Given the description of an element on the screen output the (x, y) to click on. 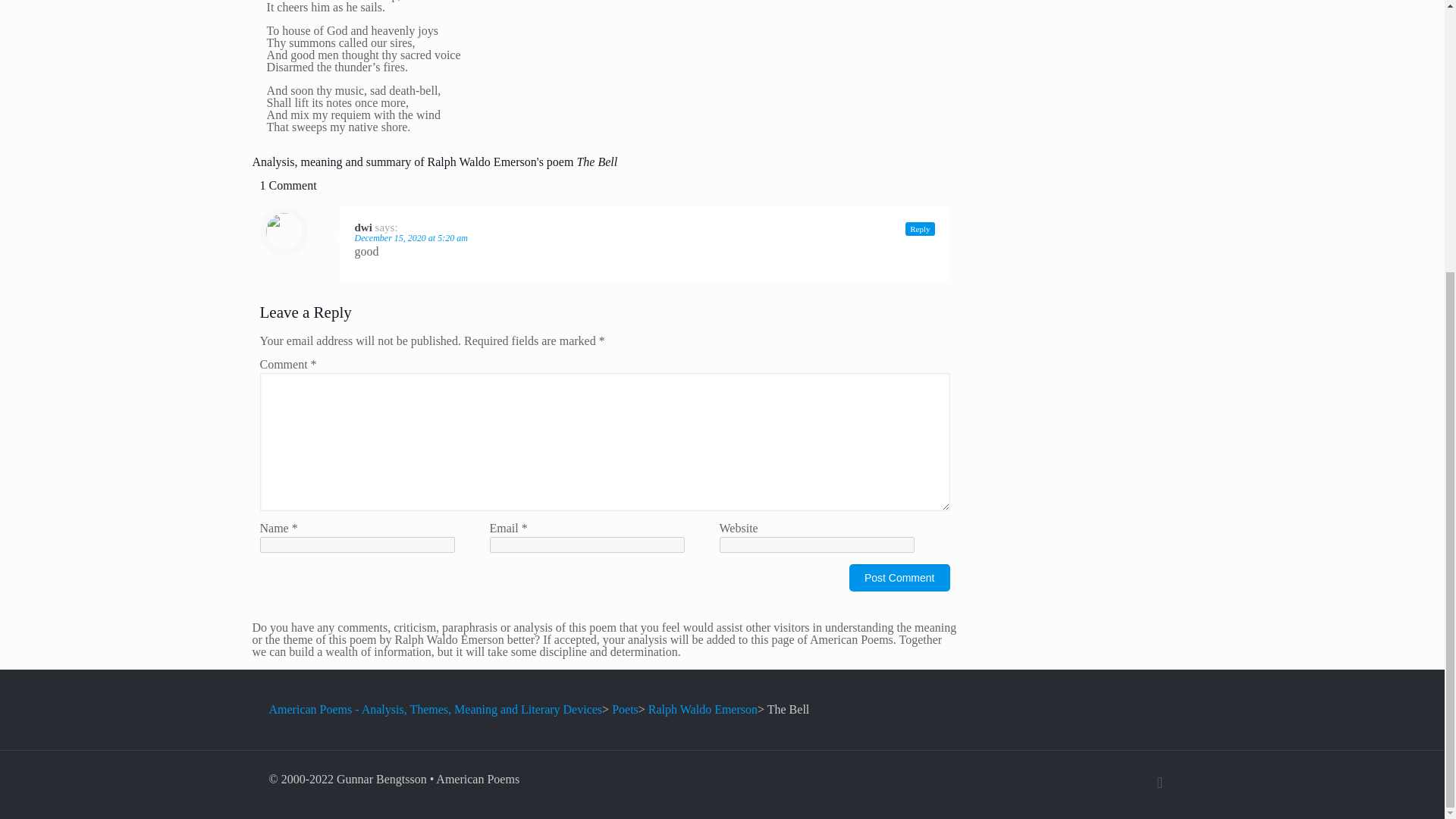
Poets (625, 708)
Reply (919, 228)
Post Comment (899, 577)
Post Comment (899, 577)
Go to Poets. (625, 708)
Ralph Waldo Emerson (702, 708)
Go to Ralph Waldo Emerson. (702, 708)
December 15, 2020 at 5:20 am (411, 237)
